Given the description of an element on the screen output the (x, y) to click on. 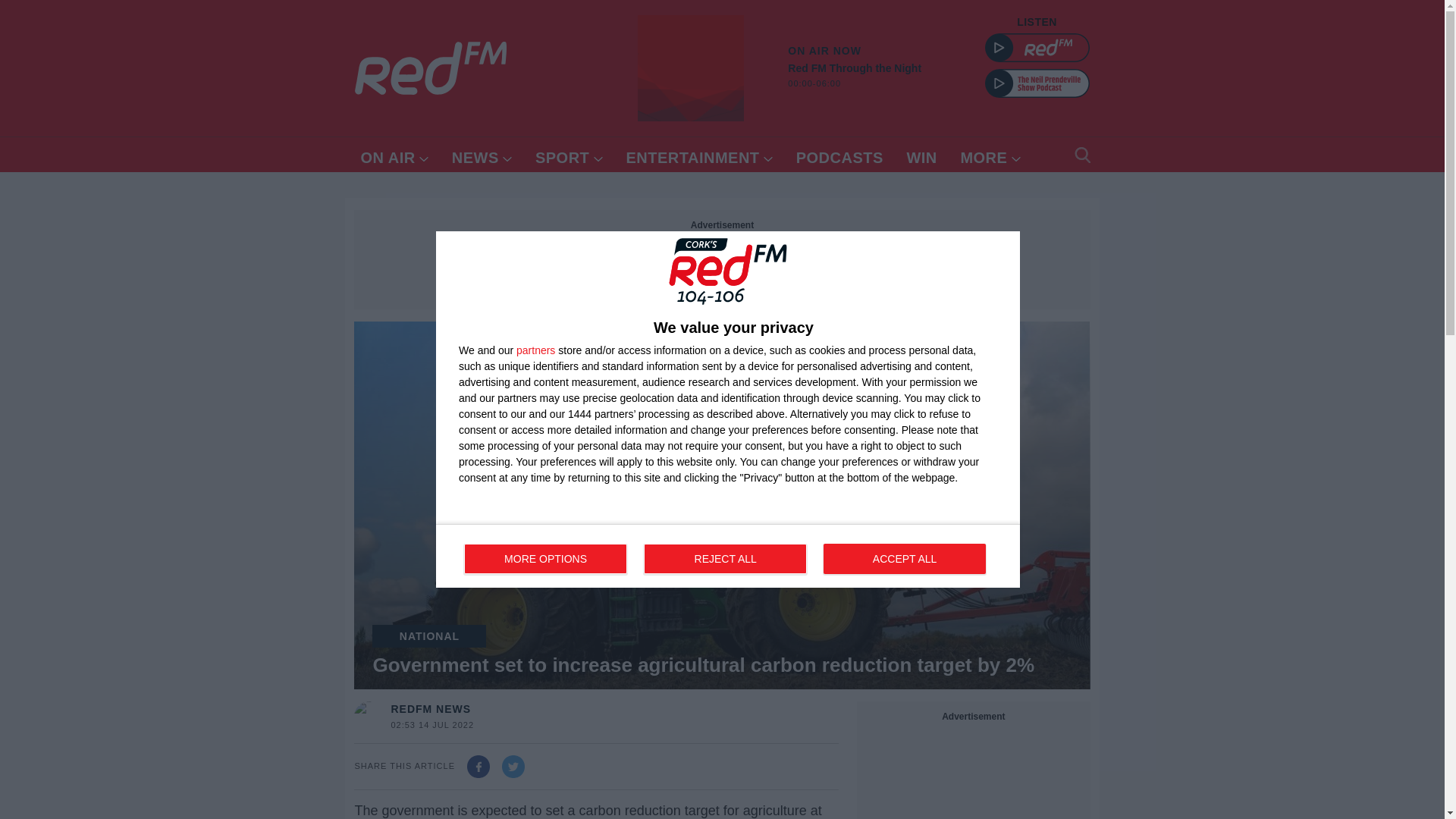
partners (727, 556)
Podcasts (535, 349)
REJECT ALL (839, 154)
MORE (724, 558)
PODCASTS (989, 154)
NEWS (839, 154)
ACCEPT ALL (860, 77)
ON AIR (481, 154)
WIN (904, 558)
MORE OPTIONS (393, 154)
Red FM Through the Night (920, 154)
ENTERTAINMENT (545, 558)
SPORT (690, 68)
